Given the description of an element on the screen output the (x, y) to click on. 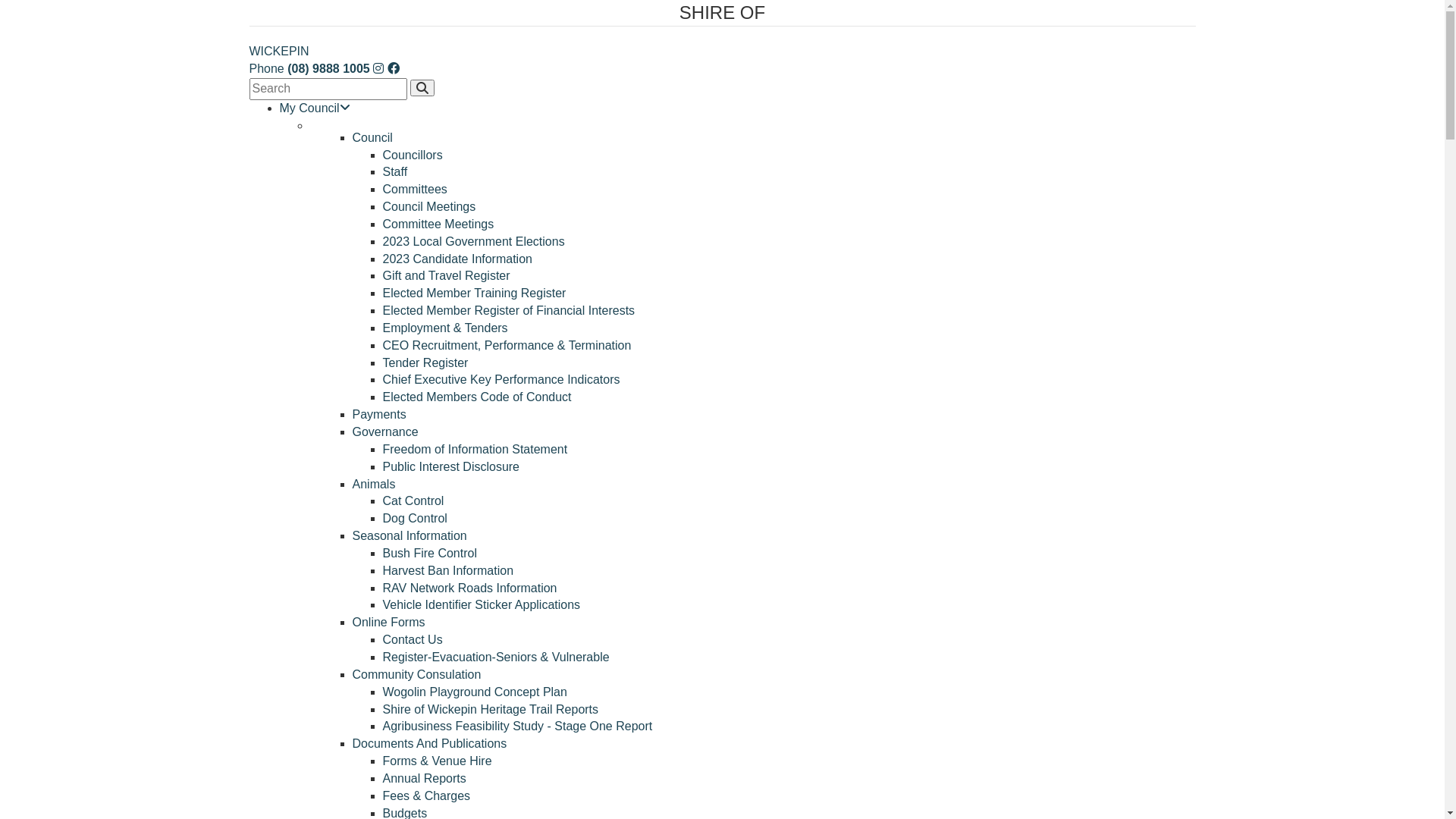
Forms & Venue Hire Element type: text (436, 760)
Phone (08) 9888 1005 Element type: text (308, 68)
Gift and Travel Register Element type: text (445, 275)
Governance Element type: text (384, 431)
My Council Element type: text (314, 107)
Council Meetings Element type: text (428, 206)
Contact Us Element type: text (412, 639)
Committee Meetings Element type: text (437, 223)
Councillors Element type: text (412, 154)
SHIRE OF
WICKEPIN Element type: text (721, 28)
Elected Member Register of Financial Interests Element type: text (508, 310)
Contact us Element type: hover (393, 68)
Elected Member Training Register Element type: text (473, 292)
Employment & Tenders Element type: text (444, 327)
Documents And Publications Element type: text (428, 743)
Dog Control Element type: text (414, 517)
2023 Local Government Elections Element type: text (473, 241)
Committees Element type: text (414, 188)
Payments Element type: text (378, 413)
Tender Register Element type: text (424, 362)
Cat Control Element type: text (412, 500)
Fees & Charges Element type: text (426, 795)
Community Consulation Element type: text (415, 674)
Annual Reports Element type: text (423, 777)
Wogolin Playground Concept Plan Element type: text (474, 691)
Harvest Ban Information Element type: text (447, 570)
Animals Element type: text (373, 483)
Council Element type: text (371, 137)
RAV Network Roads Information Element type: text (469, 587)
Staff Element type: text (394, 171)
Contact us Element type: hover (378, 68)
Shire of Wickepin Heritage Trail Reports Element type: text (490, 708)
Online Forms Element type: text (387, 621)
Seasonal Information Element type: text (408, 535)
CEO Recruitment, Performance & Termination Element type: text (506, 344)
Register-Evacuation-Seniors & Vulnerable Element type: text (495, 656)
Public Interest Disclosure Element type: text (450, 466)
2023 Candidate Information Element type: text (456, 258)
Bush Fire Control Element type: text (429, 552)
Vehicle Identifier Sticker Applications Element type: text (481, 604)
Freedom of Information Statement Element type: text (474, 448)
Agribusiness Feasibility Study - Stage One Report Element type: text (517, 725)
Chief Executive Key Performance Indicators Element type: text (500, 379)
Elected Members Code of Conduct Element type: text (476, 396)
